Given the description of an element on the screen output the (x, y) to click on. 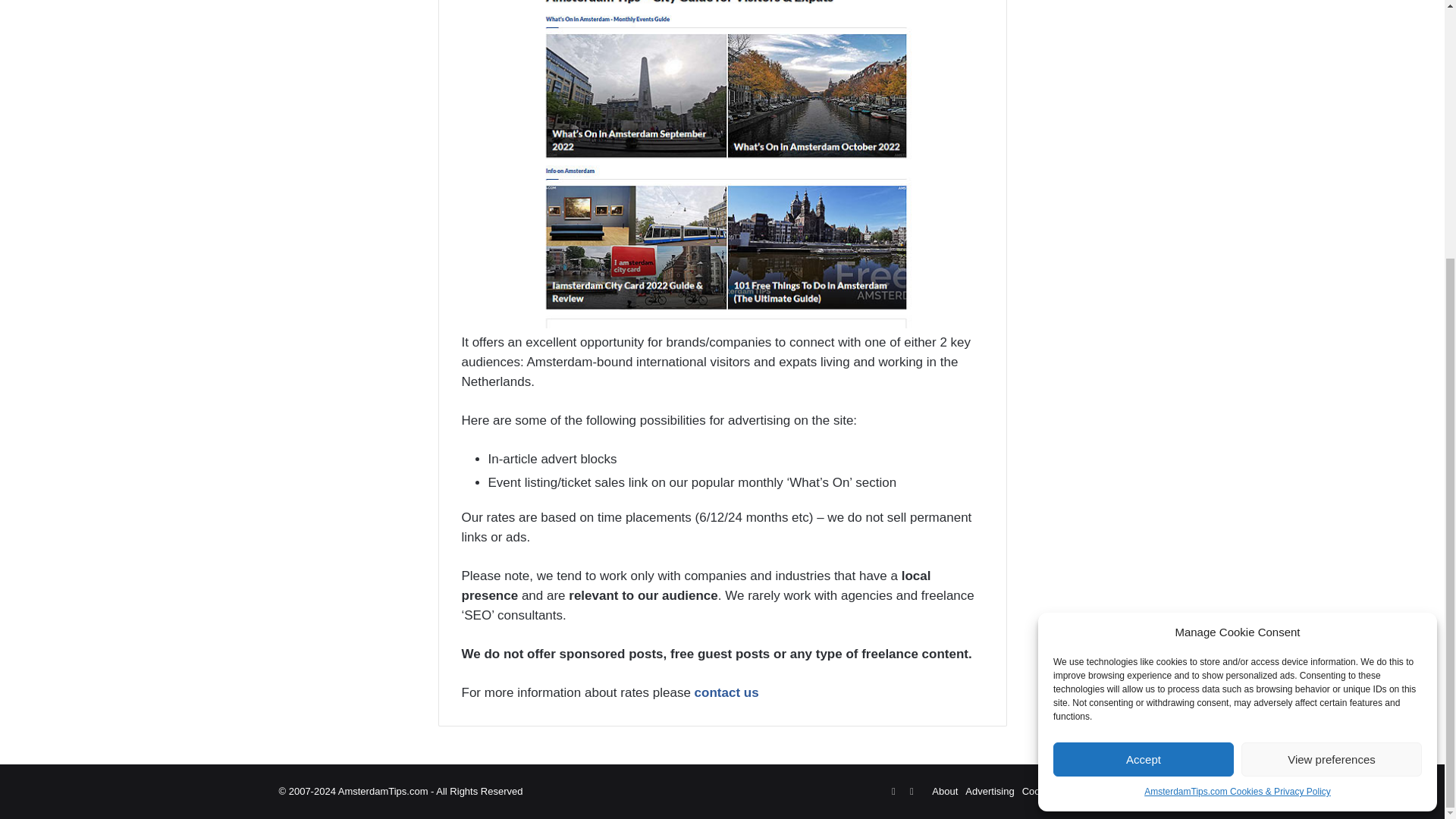
Instagram (911, 791)
Twitter (892, 791)
Contact (1144, 790)
Advertising (989, 790)
Accept (1142, 390)
View preferences (1331, 390)
About (944, 790)
contact us (726, 692)
